Given the description of an element on the screen output the (x, y) to click on. 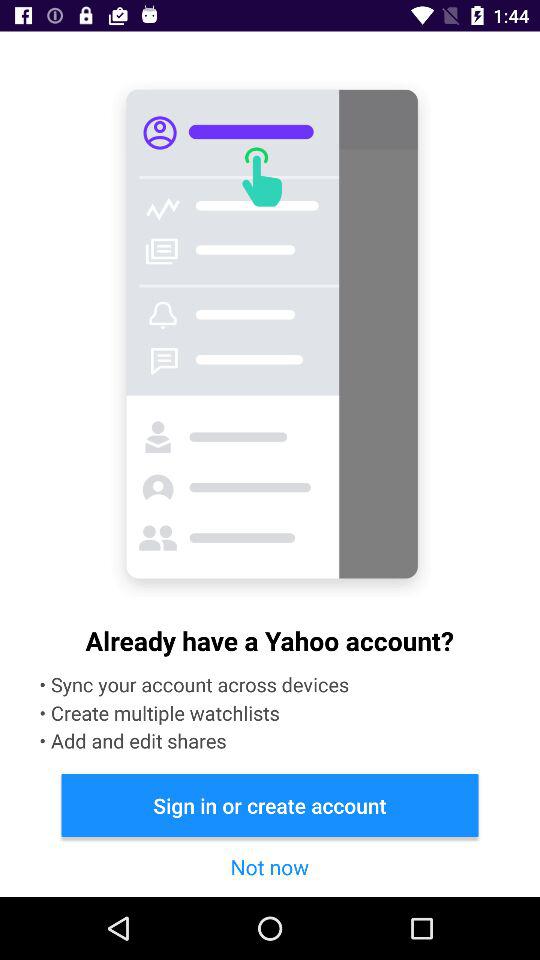
jump until the sign in or (269, 804)
